Given the description of an element on the screen output the (x, y) to click on. 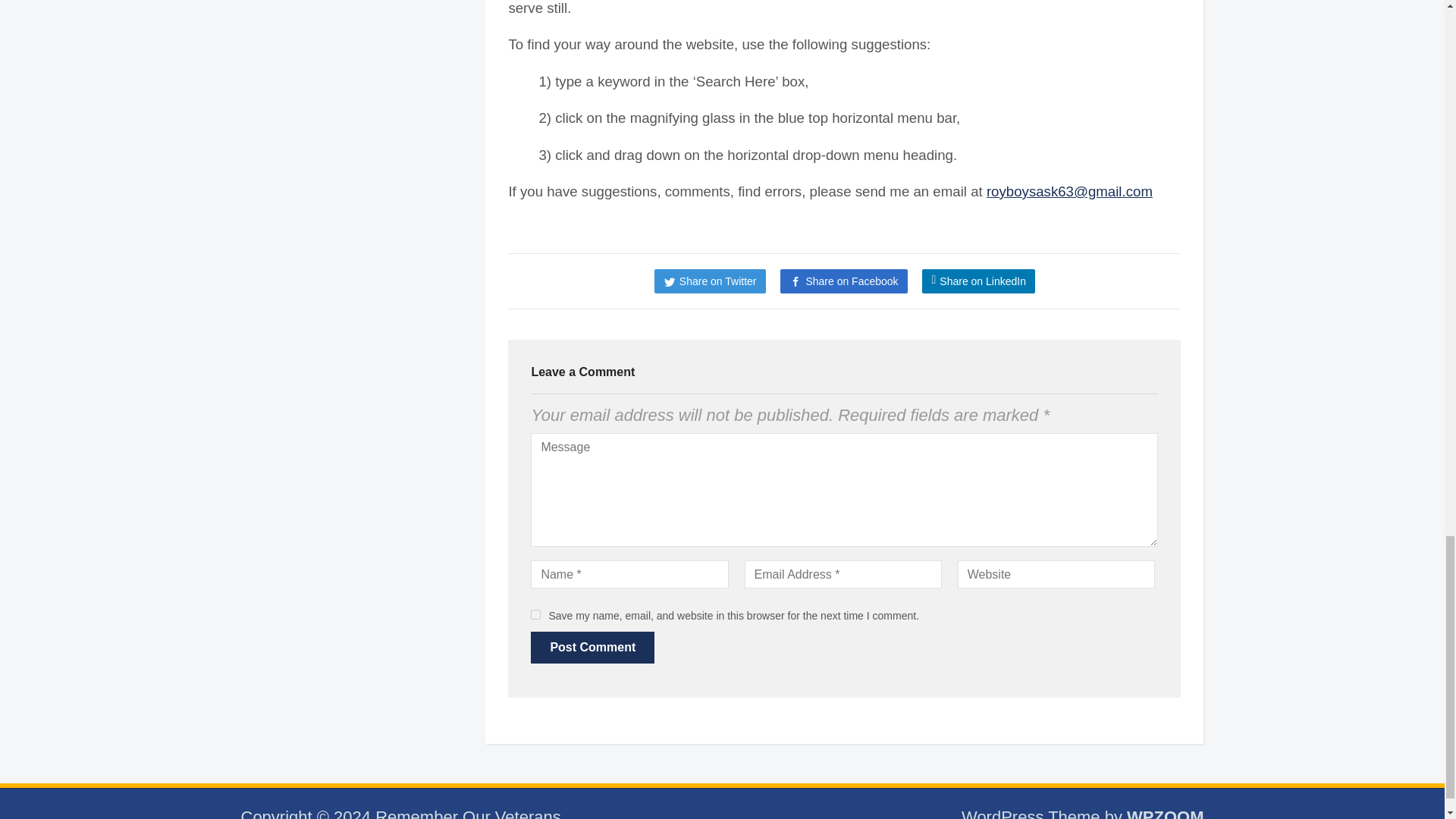
Post Comment (592, 647)
Tweet this on Twitter (709, 281)
yes (535, 614)
Share on LinkedIn (977, 281)
Share this on Facebook (843, 281)
